Given the description of an element on the screen output the (x, y) to click on. 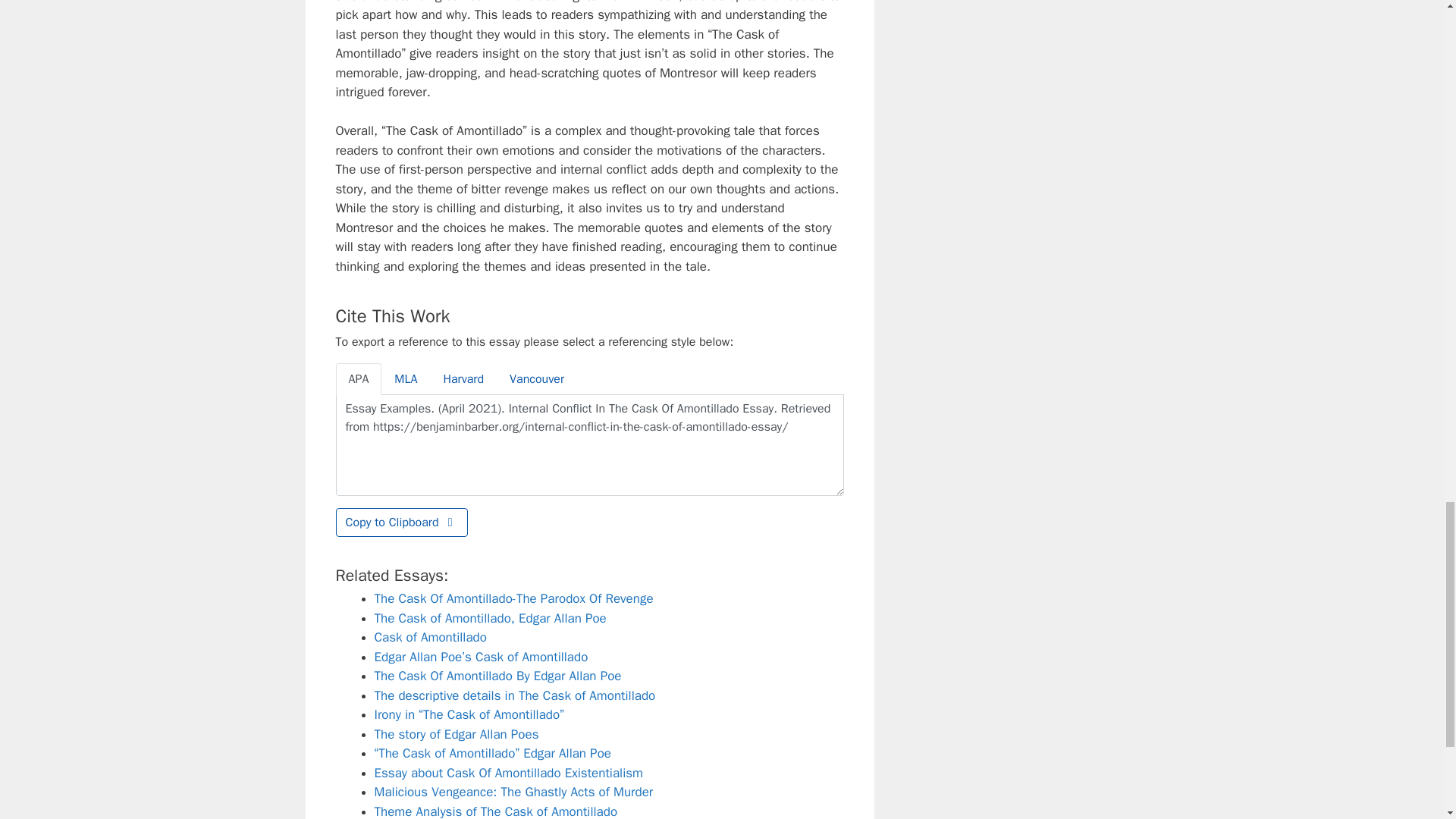
MLA (405, 378)
Cask of Amontillado (430, 637)
The story of Edgar Allan Poes (456, 734)
The Cask Of Amontillado-The Parodox Of Revenge (513, 598)
Theme Analysis of The Cask of Amontillado (495, 811)
APA (357, 378)
The descriptive details in The Cask of Amontillado (515, 695)
Harvard (462, 378)
Essay about Cask Of Amontillado Existentialism (508, 772)
Malicious Vengeance: The Ghastly Acts of Murder (513, 791)
Cask of Amontillado (430, 637)
The Cask of Amontillado, Edgar Allan Poe (490, 618)
Vancouver (536, 378)
The Cask of Amontillado, Edgar Allan Poe (490, 618)
The Cask Of Amontillado By Edgar Allan Poe (497, 675)
